Given the description of an element on the screen output the (x, y) to click on. 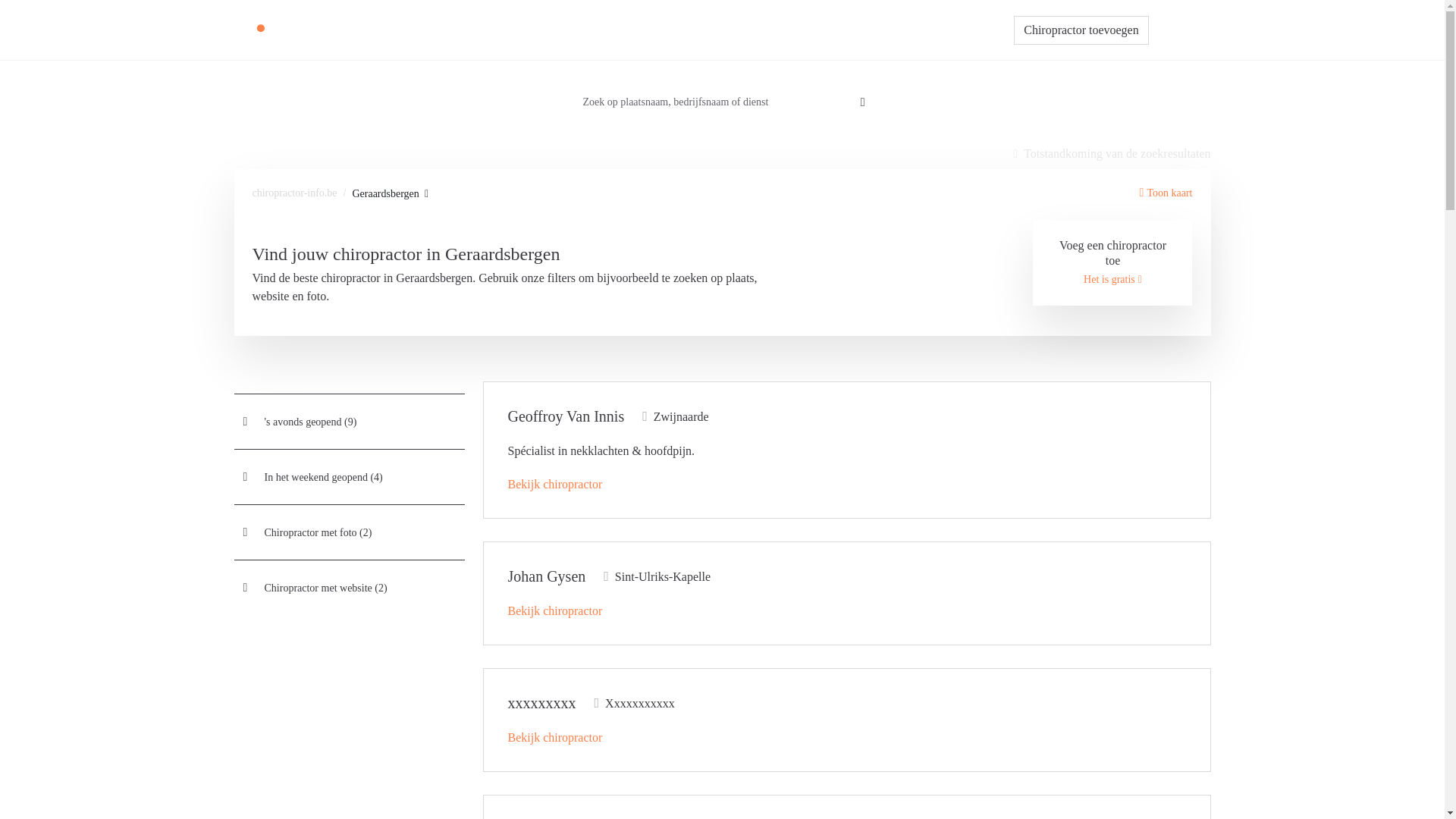
Geraardsbergen Element type: text (389, 193)
Het is gratis Element type: text (1112, 279)
Bekijk chiropractor Element type: text (555, 483)
Johan Gysen Element type: text (547, 575)
Chiropractor zoeken Element type: text (678, 29)
chiropractor-info.be Element type: text (293, 192)
Bekijk chiropractor Element type: text (555, 737)
Chiropractor met website (2) Element type: text (348, 587)
Geoffroy Van Innis Element type: text (566, 415)
Chiropractor toevoegen Element type: text (1080, 29)
Toon kaart Element type: text (1165, 192)
xxxxxxxxx Element type: text (542, 702)
Chiropractor met foto (2) Element type: text (348, 532)
In het weekend geopend (4) Element type: text (348, 476)
Inloggen Element type: text (1179, 29)
's avonds geopend (9) Element type: text (348, 421)
Vraagbaak Element type: text (769, 29)
Bekijk chiropractor Element type: text (555, 610)
Totstandkoming van de zoekresultaten Element type: text (1111, 153)
